Given the description of an element on the screen output the (x, y) to click on. 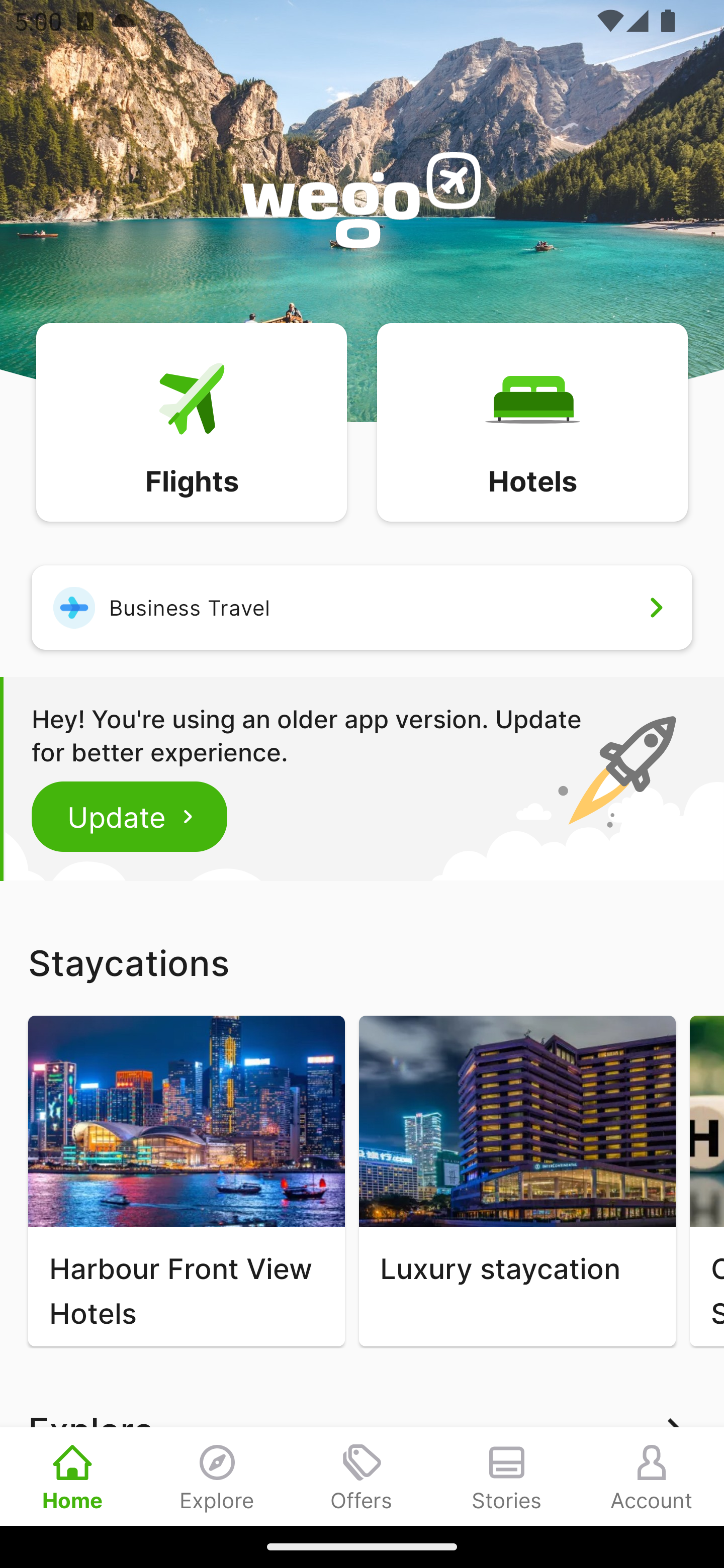
Flights (191, 420)
Hotels (532, 420)
Business Travel (361, 607)
Update (129, 815)
Staycations (362, 962)
Harbour Front View Hotels (186, 1181)
Luxury staycation (517, 1181)
Explore (216, 1475)
Offers (361, 1475)
Stories (506, 1475)
Account (651, 1475)
